Given the description of an element on the screen output the (x, y) to click on. 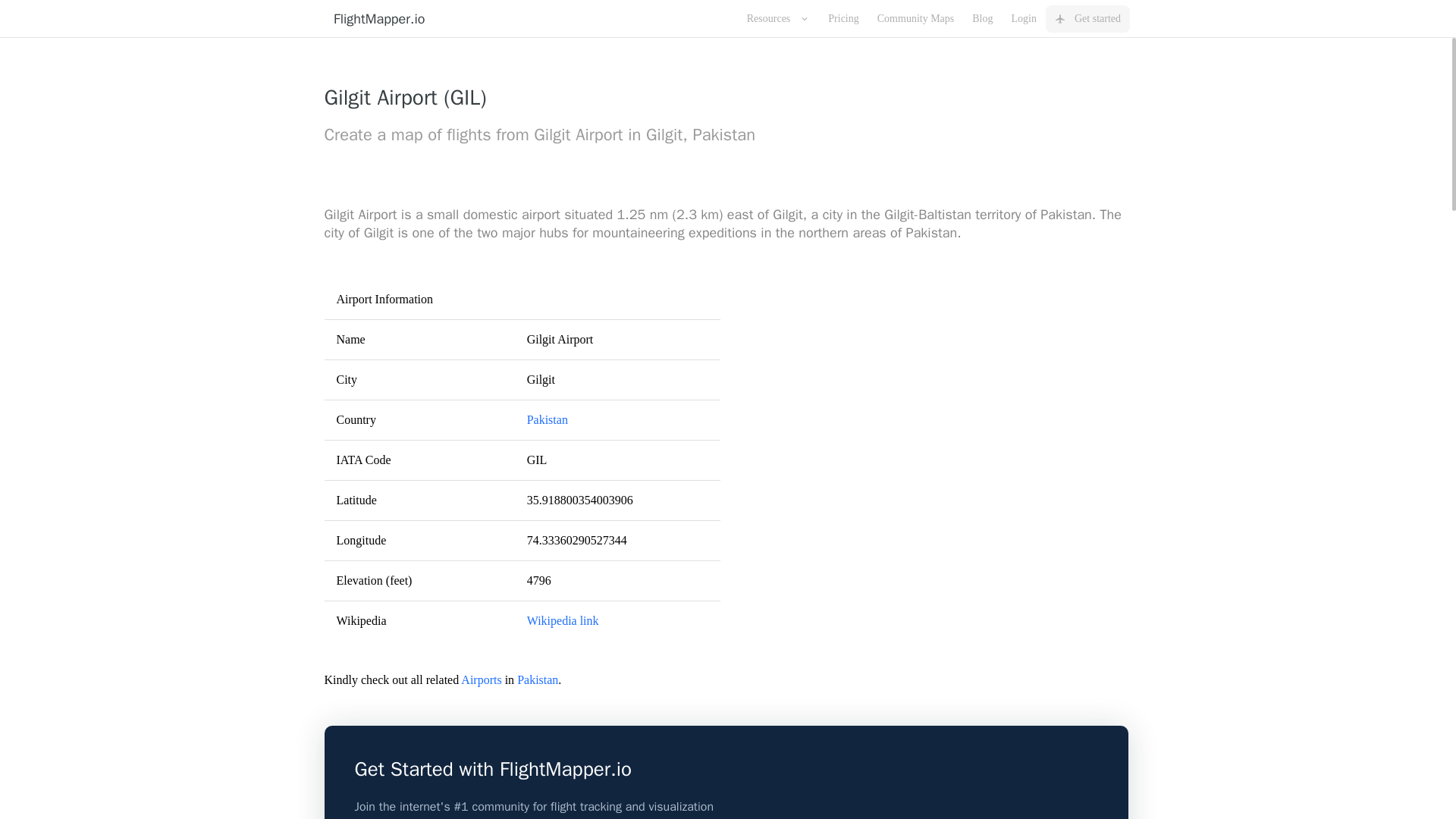
Pakistan (547, 419)
Blog (981, 18)
Airports (480, 679)
Community Maps (915, 18)
Pricing (842, 18)
Resources (778, 18)
Pakistan (536, 679)
Login (1024, 18)
Get started (1087, 18)
Wikipedia link (562, 620)
